Given the description of an element on the screen output the (x, y) to click on. 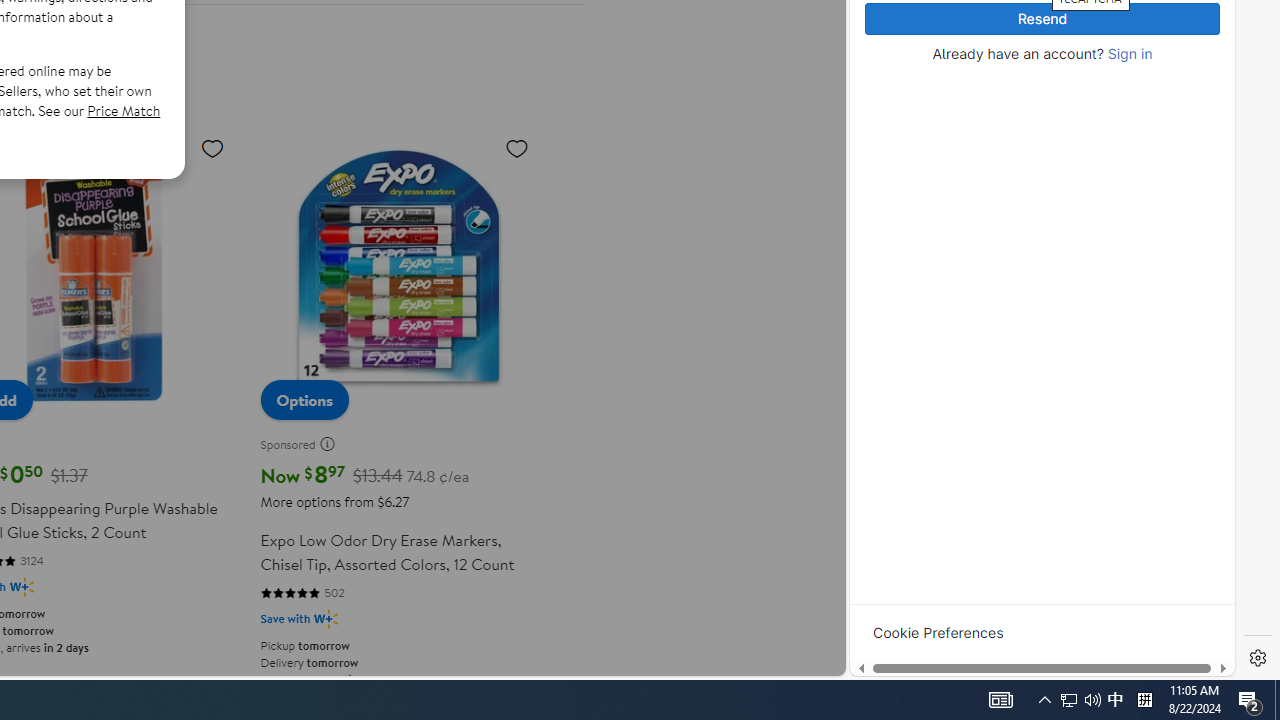
Sign in (1130, 53)
View details (1145, 255)
Global web icon (888, 403)
Resend (1042, 19)
View details (1145, 256)
GitLab (966, 678)
Cookie Preferences (938, 632)
